Given the description of an element on the screen output the (x, y) to click on. 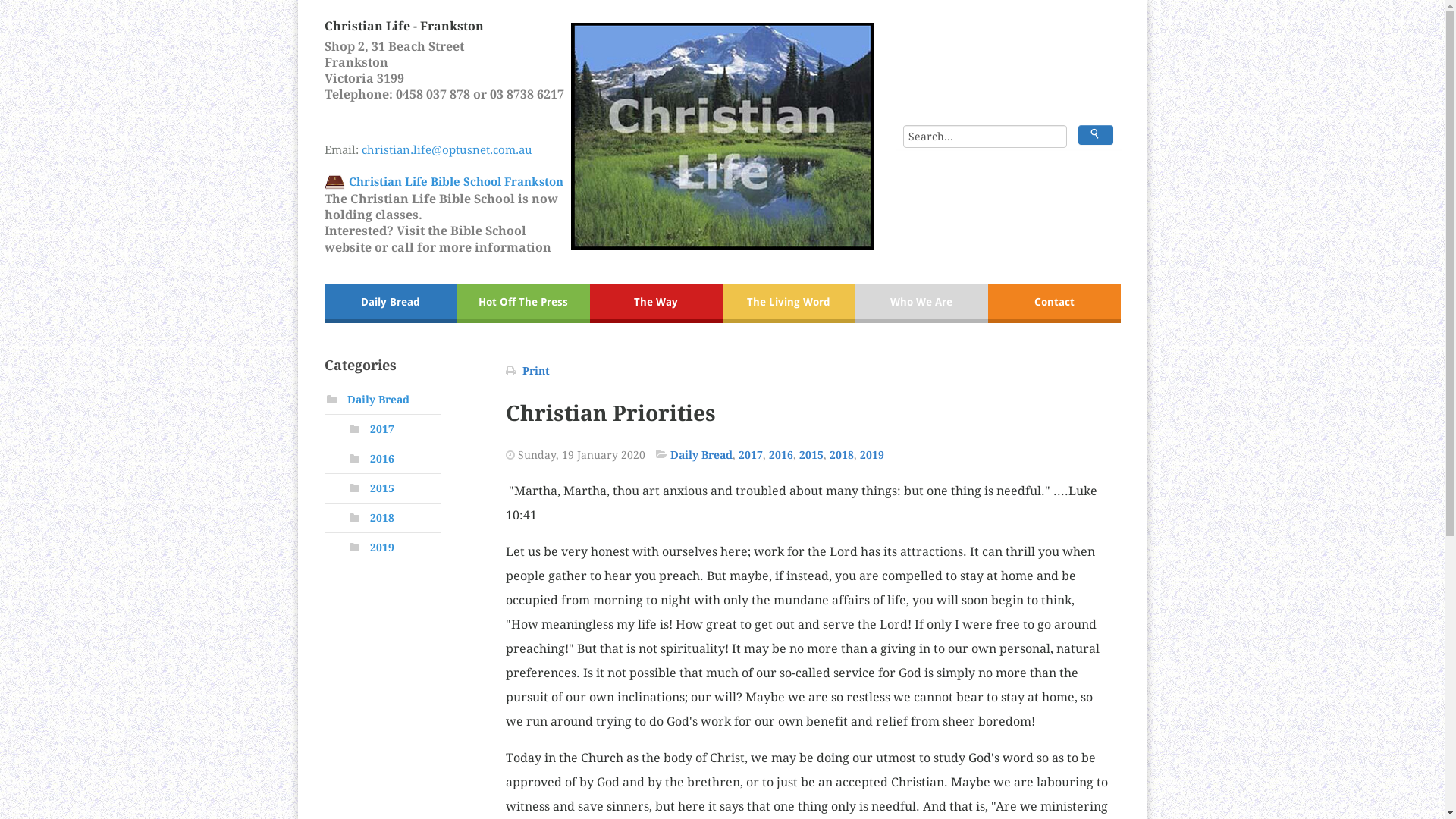
The Living Word Element type: text (787, 303)
Daily Bread Element type: text (390, 303)
The Way Element type: text (655, 303)
2017 Element type: text (382, 429)
Print Element type: text (535, 370)
2018 Element type: text (841, 454)
2015 Element type: text (382, 488)
Daily Bread Element type: text (701, 454)
2016 Element type: text (780, 454)
Hot Off The Press Element type: text (522, 303)
Contact Element type: text (1053, 303)
christian.life@optusnet.com.au Element type: text (464, 157)
2019 Element type: text (382, 547)
2017 Element type: text (750, 454)
Who We Are Element type: text (921, 303)
Daily Bread Element type: text (378, 399)
2018 Element type: text (382, 517)
2015 Element type: text (811, 454)
2019 Element type: text (871, 454)
Search Element type: hover (1095, 134)
2016 Element type: text (382, 458)
 Christian Life Bible School Frankston Element type: text (454, 181)
